Given the description of an element on the screen output the (x, y) to click on. 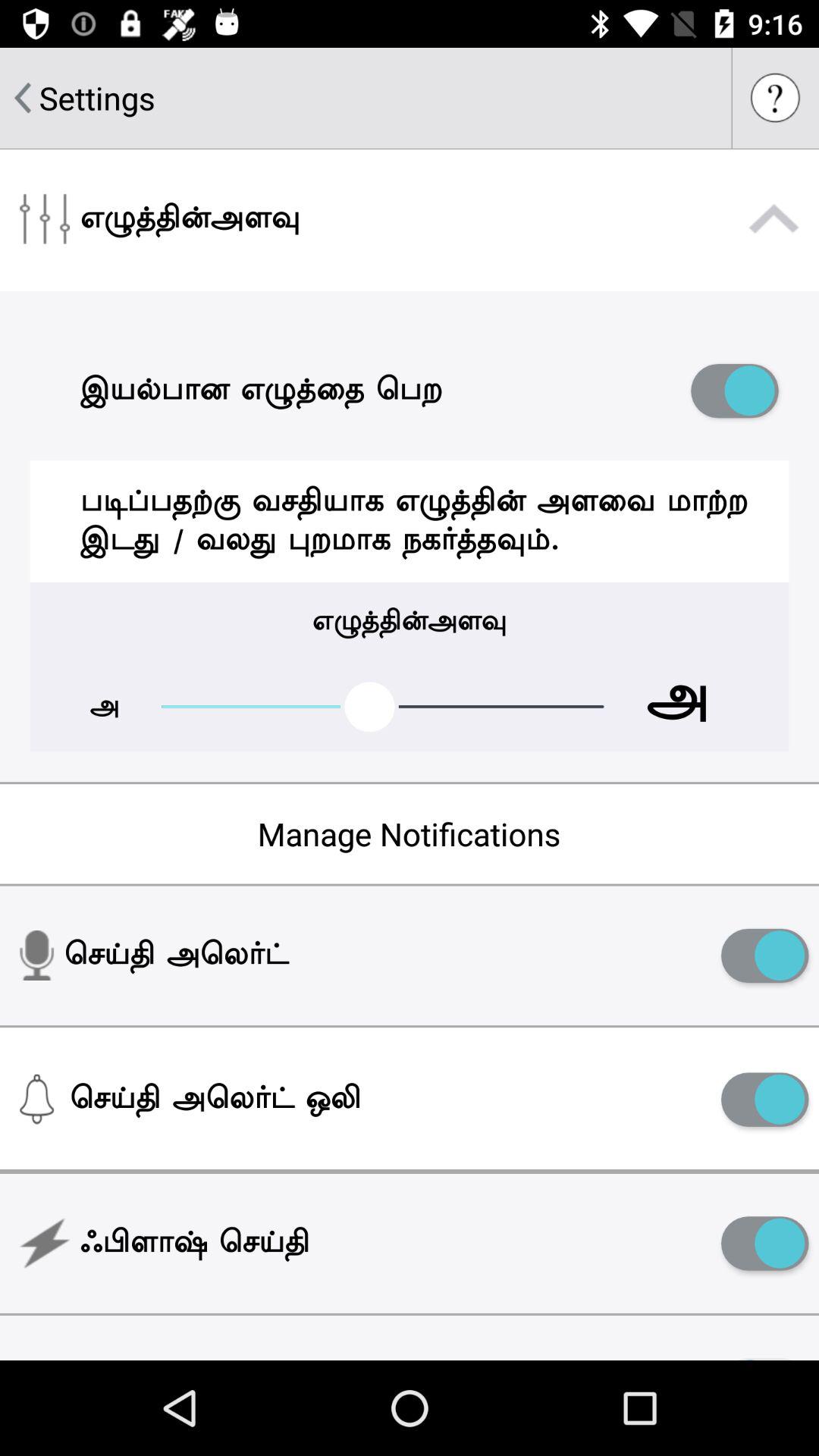
choose item next to the night mode (764, 1355)
